Given the description of an element on the screen output the (x, y) to click on. 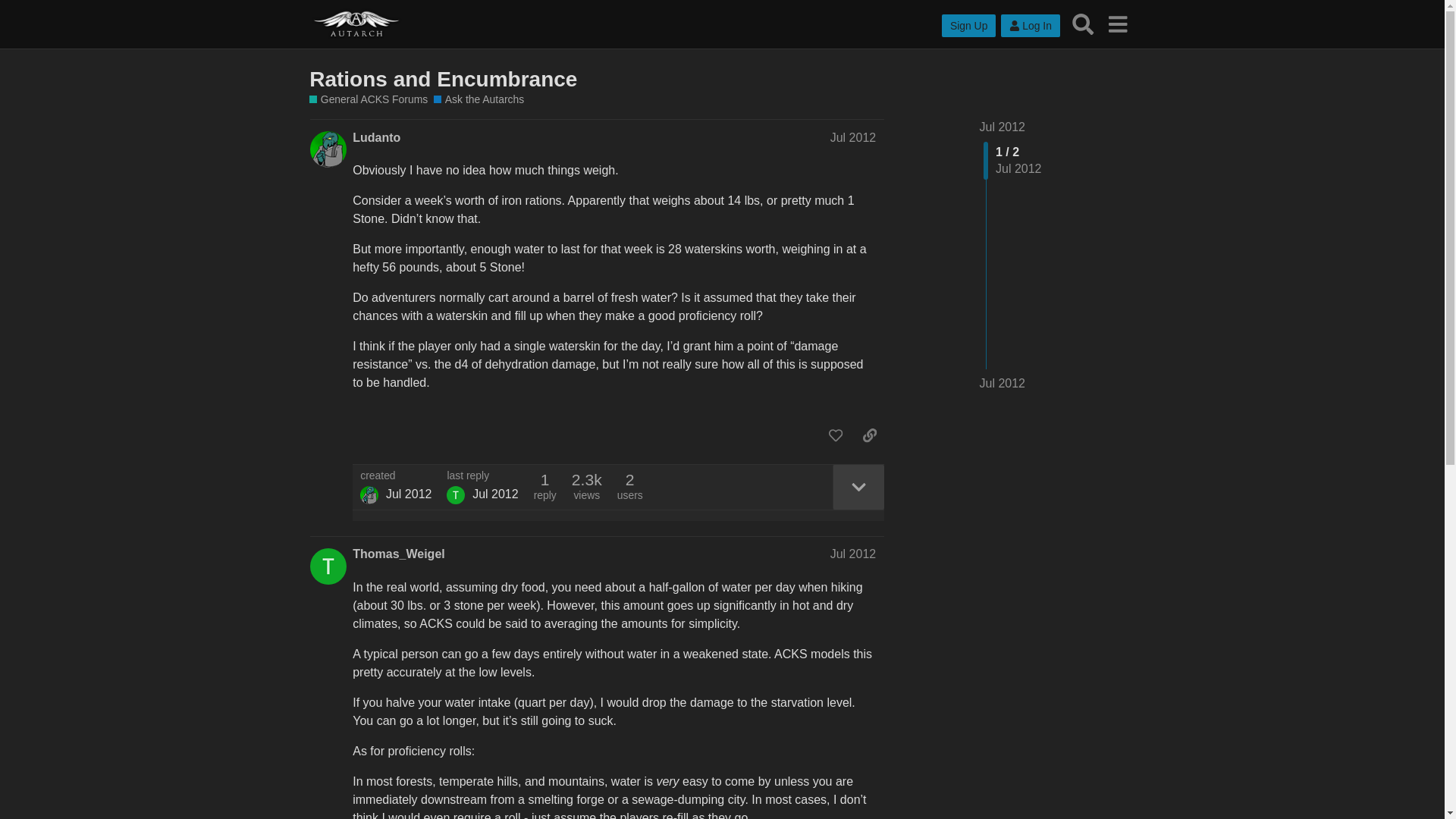
Ludanto (376, 137)
Post date (852, 553)
Jul 2012 (1002, 126)
Sign Up (968, 25)
expand topic details (857, 487)
like this post (835, 434)
Jul 5, 2012 4:38 am (408, 493)
Jul 2012 (852, 553)
General ACKS Forums (368, 99)
Search (1082, 23)
last reply (482, 475)
menu (1117, 23)
Rations and Encumbrance (442, 78)
Jul 2012 (852, 137)
copy a link to this post to clipboard (869, 434)
